Given the description of an element on the screen output the (x, y) to click on. 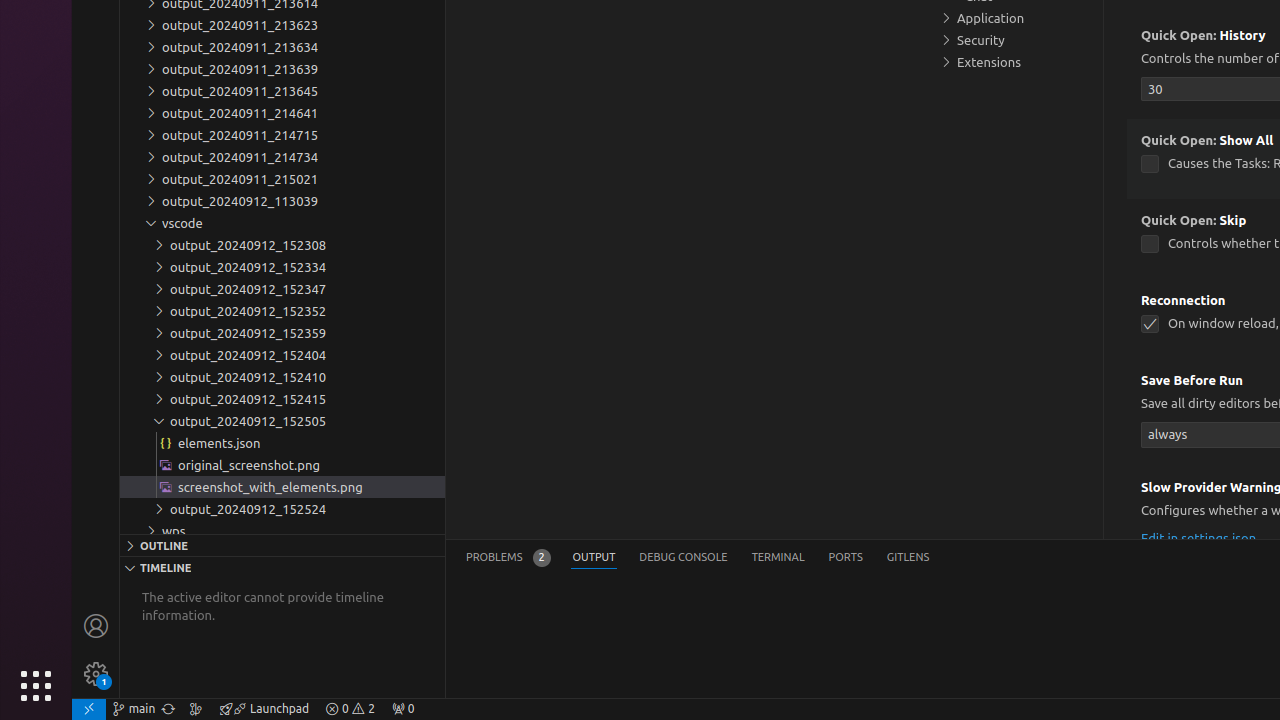
output_20240911_214641 Element type: tree-item (282, 113)
output_20240911_213634 Element type: tree-item (282, 47)
output_20240912_152505 Element type: tree-item (282, 421)
task.reconnection Element type: check-box (1150, 324)
Timeline Section Element type: push-button (282, 567)
